Given the description of an element on the screen output the (x, y) to click on. 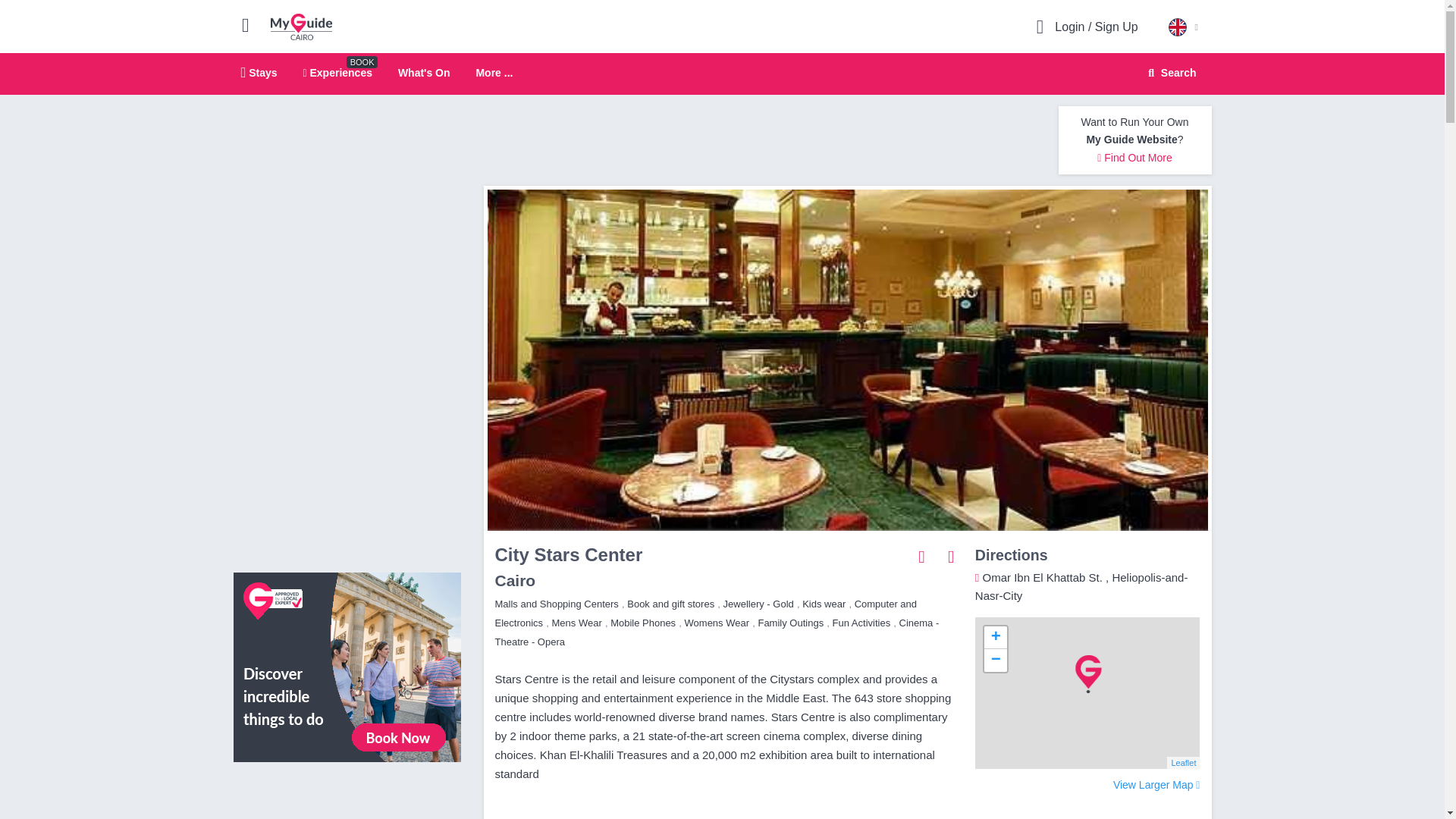
Advertisement (759, 140)
My Guide Cairo (300, 25)
Search (1169, 72)
Experiences (337, 72)
Stays (259, 72)
More ... (721, 74)
Search Website (494, 72)
Advertisement (1170, 73)
A JS library for interactive maps (346, 796)
View All Experiences (1182, 762)
Zoom in (346, 666)
What's On (995, 637)
City Stars Center (423, 72)
